Given the description of an element on the screen output the (x, y) to click on. 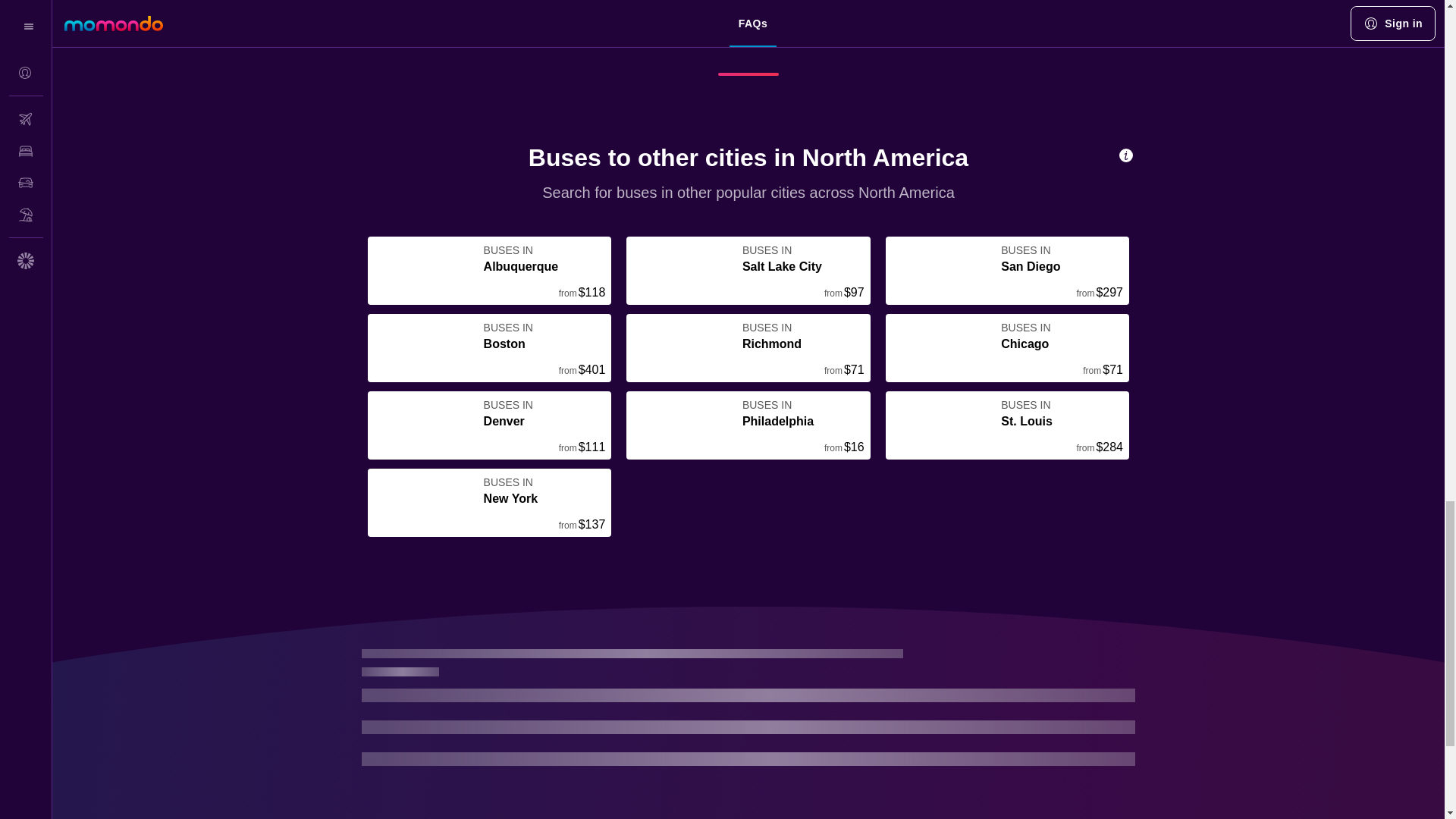
Find cars in Provo (814, 8)
Find hotels in Provo (590, 8)
Find rentals in Provo (1051, 8)
